Given the description of an element on the screen output the (x, y) to click on. 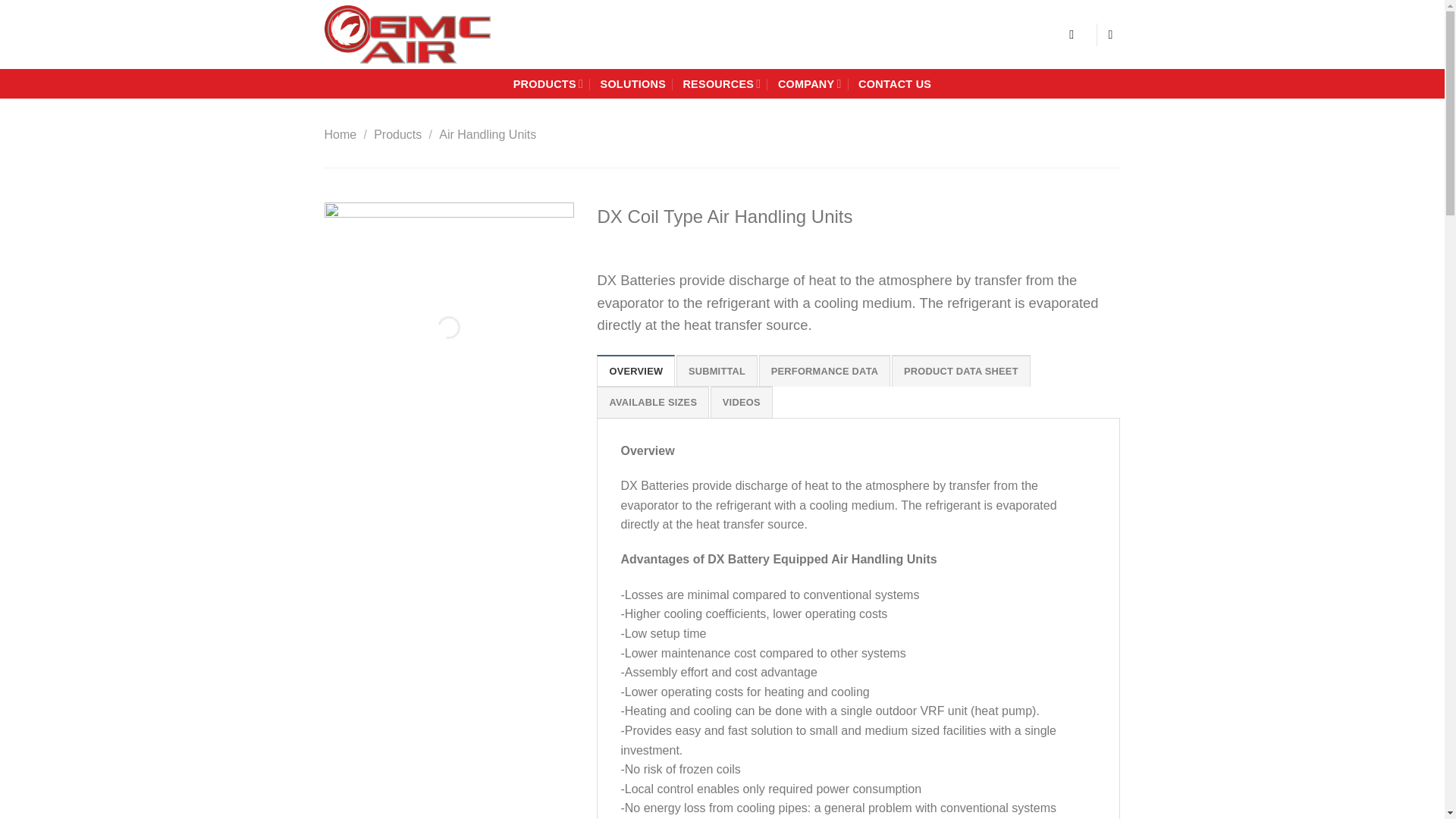
PRODUCTS (548, 83)
SOLUTIONS (632, 83)
GMC Air (429, 34)
RESOURCES (721, 83)
